Given the description of an element on the screen output the (x, y) to click on. 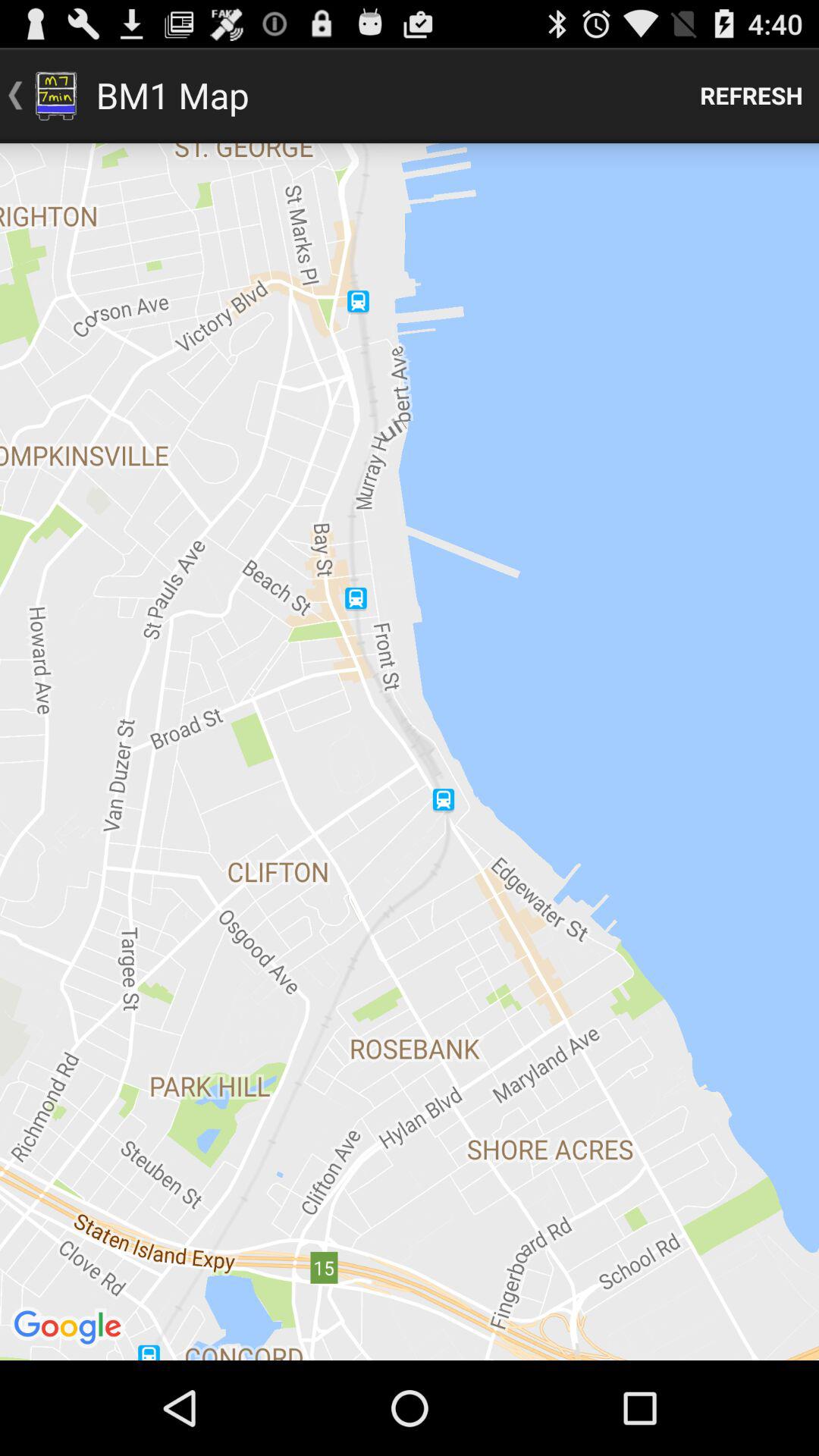
press refresh icon (751, 95)
